Given the description of an element on the screen output the (x, y) to click on. 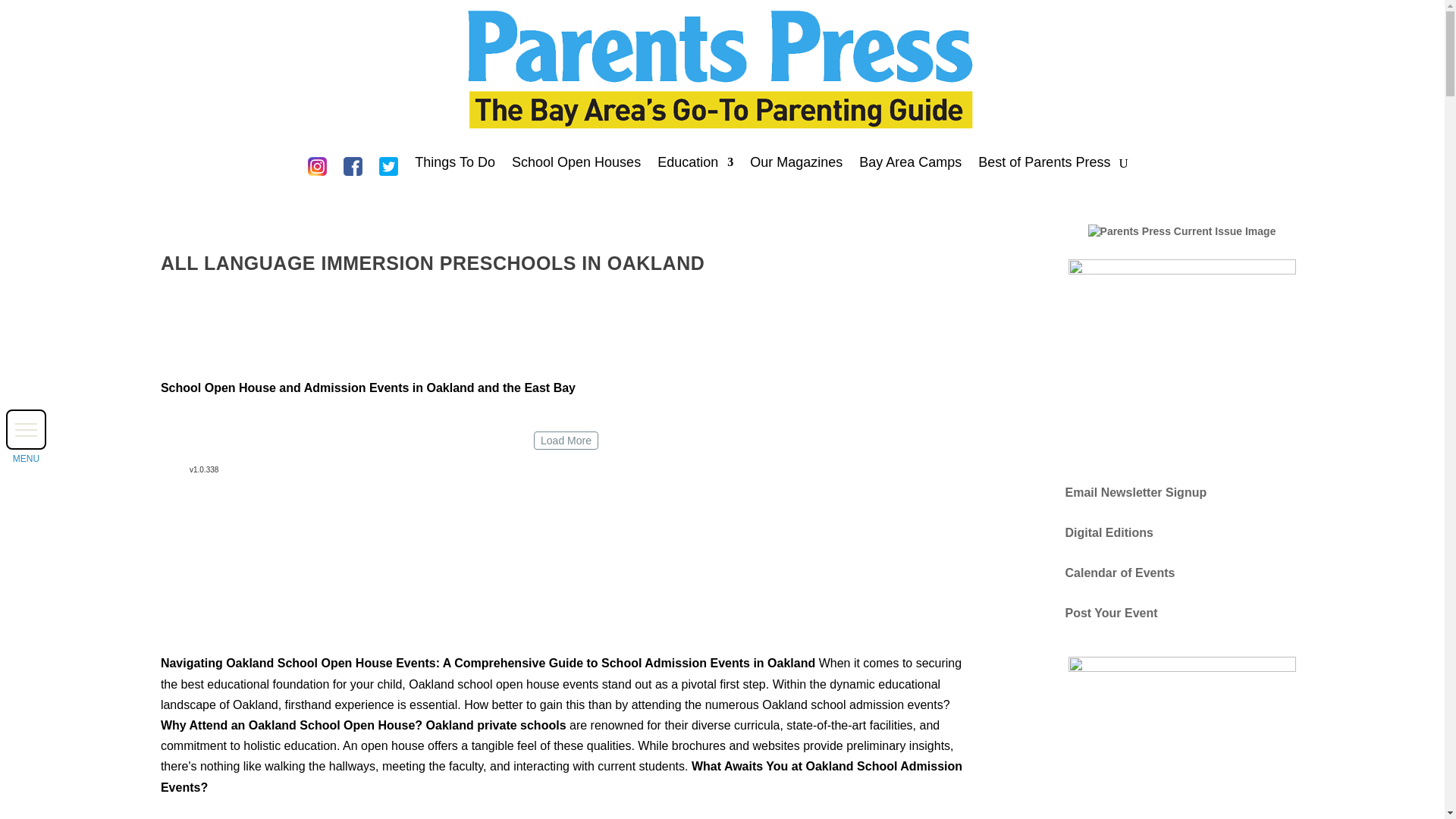
Our Magazines (796, 169)
Best of Parents Press (1043, 169)
Bay Area Camps (909, 169)
Education (695, 169)
School Open Houses (576, 169)
Things To Do (454, 169)
PP-web-logo-with-tagline-2-800px-transp (722, 71)
